Given the description of an element on the screen output the (x, y) to click on. 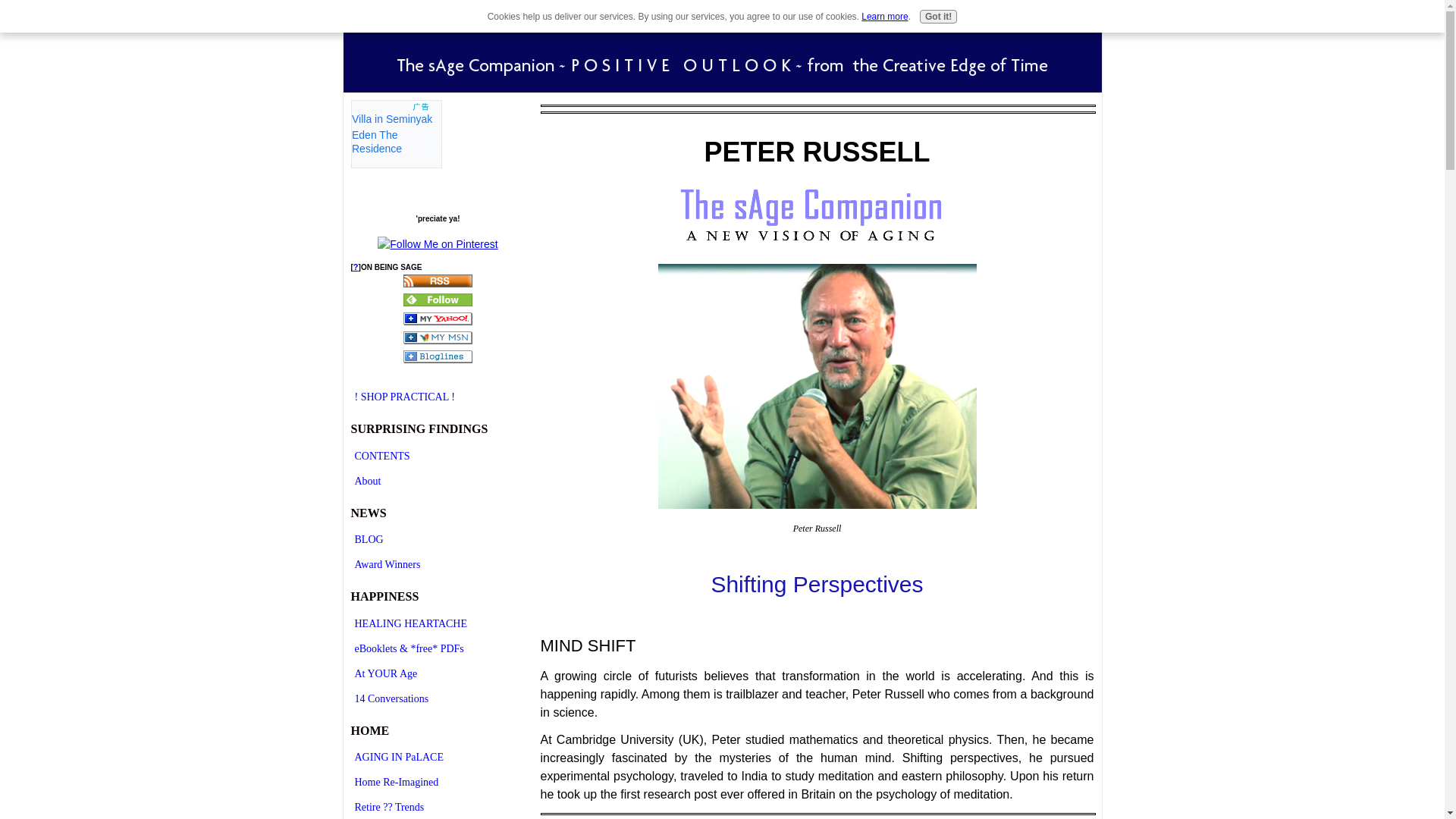
CONTENTS (437, 455)
BLOG (437, 539)
14 Conversations (437, 698)
Award Winners (437, 564)
HEALING HEARTACHE (437, 623)
At YOUR Age (437, 673)
About (437, 481)
Advertisement (395, 133)
! SHOP PRACTICAL ! (437, 396)
